Given the description of an element on the screen output the (x, y) to click on. 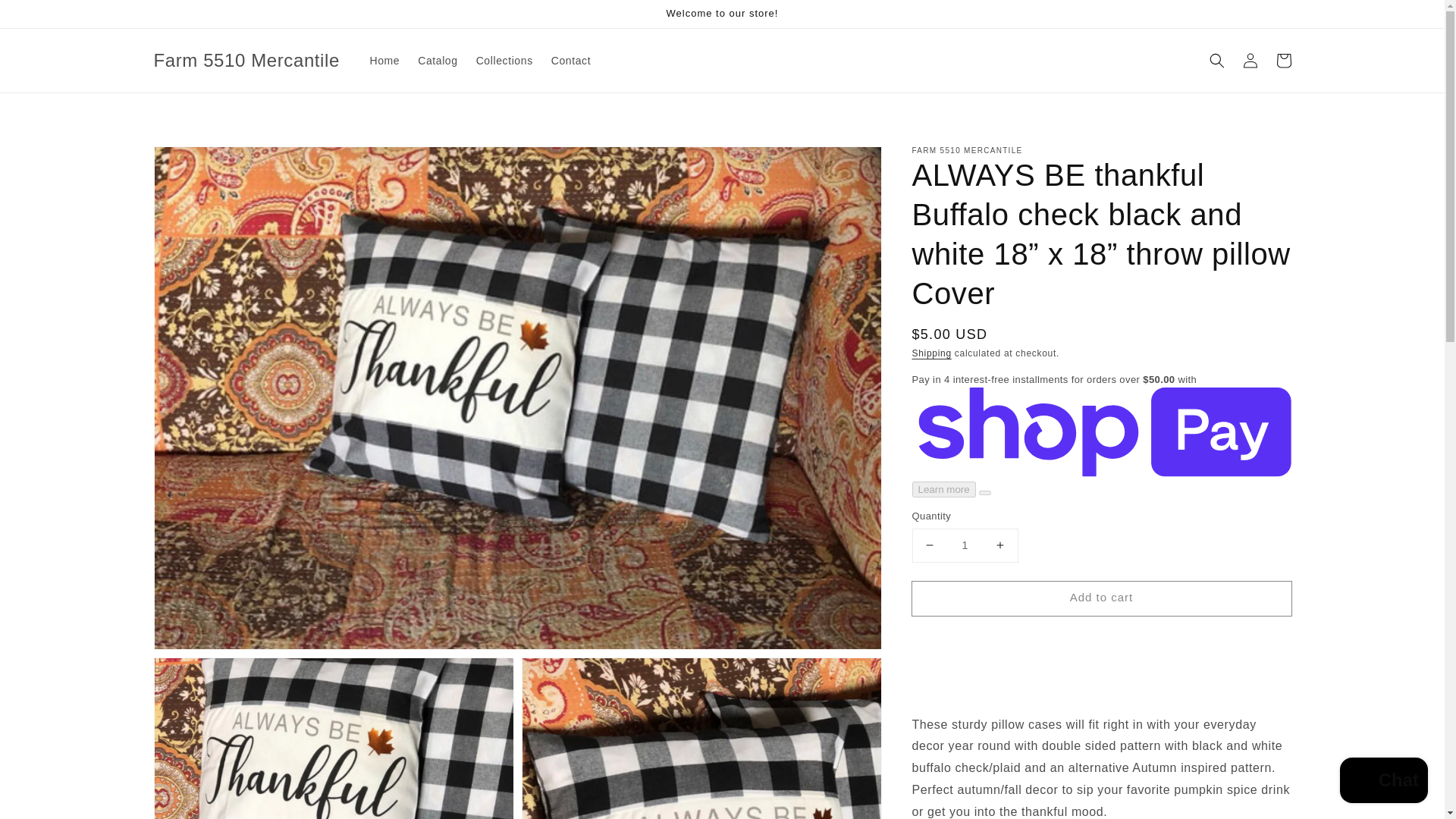
Skip to product information (198, 162)
Catalog (437, 60)
Open media 3 in gallery view (700, 738)
Cart (1283, 60)
1 (964, 545)
Skip to content (45, 16)
Collections (504, 60)
Shopify online store chat (1383, 781)
Add to cart (1100, 598)
